Given the description of an element on the screen output the (x, y) to click on. 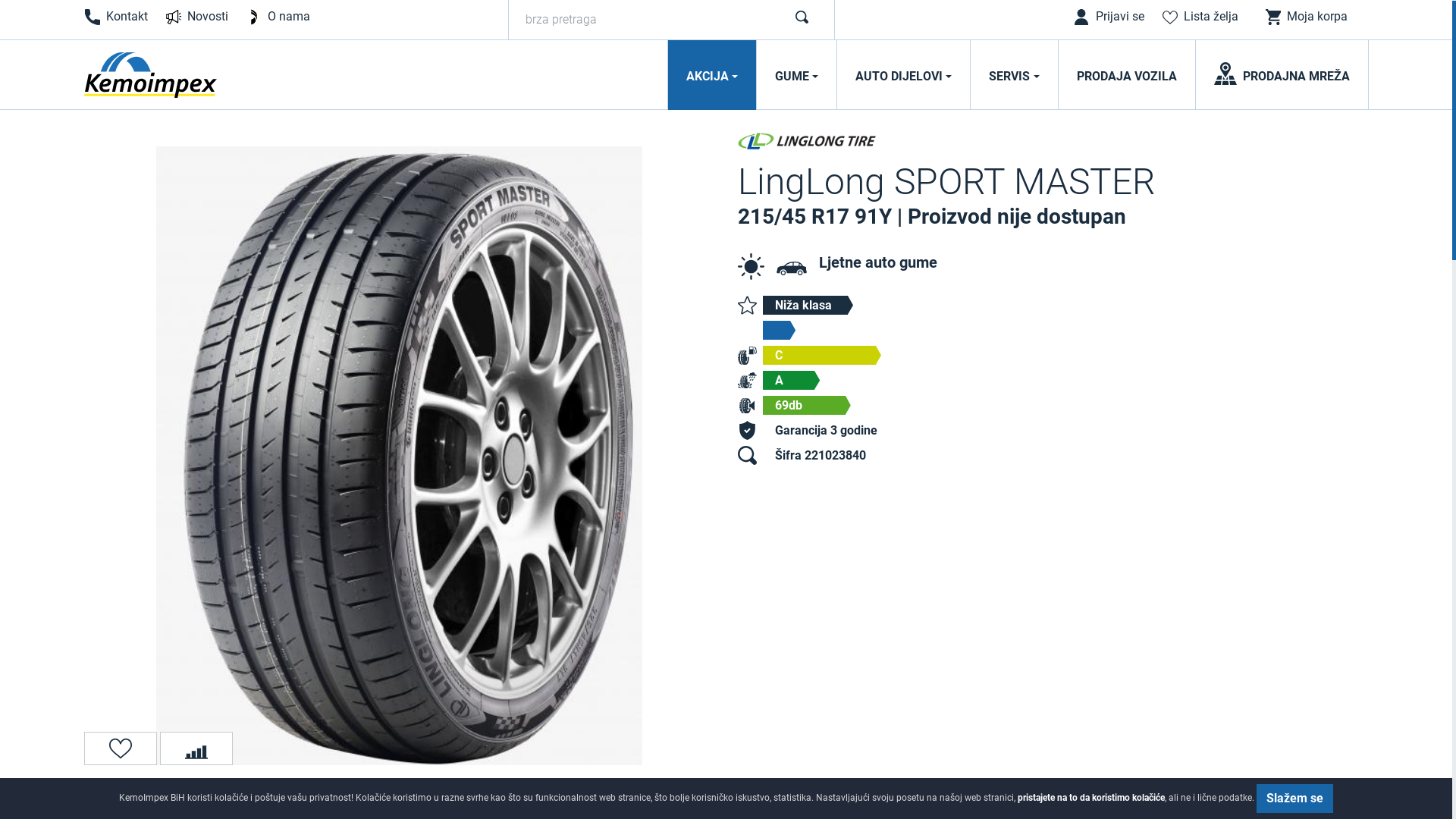
Usporedi proizvod Element type: hover (195, 749)
PRODAJA VOZILA Element type: text (1126, 76)
Moja korpa Element type: text (1308, 18)
AKCIJA Element type: text (712, 76)
AUTO DIJELOVI Element type: text (903, 76)
Kontakt Element type: text (119, 20)
Letnje gume za auto Element type: hover (750, 267)
Prijavi se Element type: text (1111, 20)
O nama Element type: text (280, 20)
GUME Element type: text (796, 76)
SERVIS Element type: text (1013, 76)
LINGLONG Element type: hover (820, 141)
Novosti Element type: text (199, 20)
Auto gume Element type: hover (791, 269)
Ljetne auto gume Element type: text (878, 263)
KemoImpex BiH Element type: hover (149, 76)
TIP VOZNJE Element type: hover (894, 331)
